Given the description of an element on the screen output the (x, y) to click on. 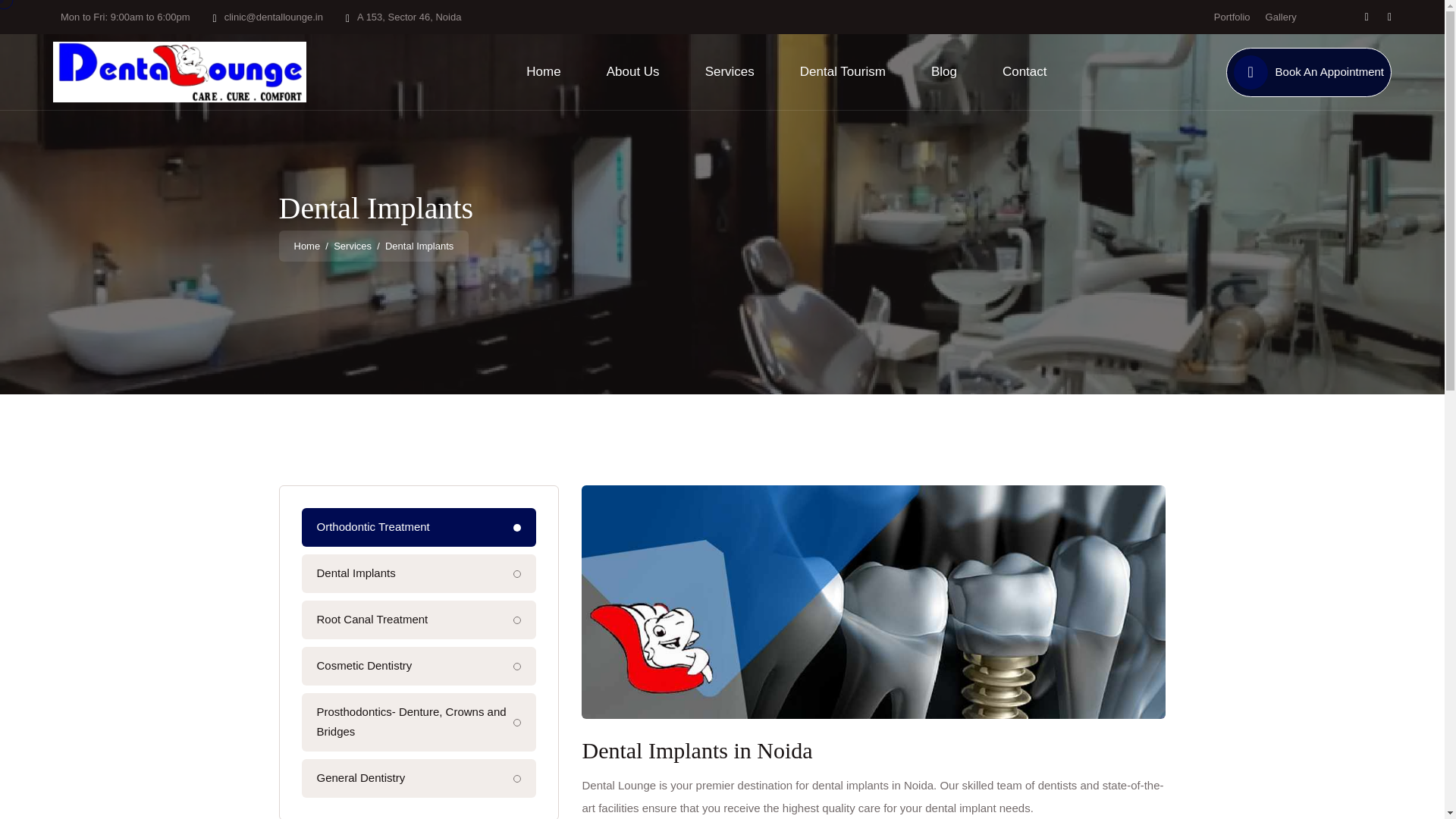
Cosmetic Dentistry (419, 666)
Book An Appointment (1329, 71)
Portfolio (1232, 16)
Gallery (1281, 16)
Home (542, 71)
Root Canal Treatment (419, 619)
Services (352, 246)
Dental Tourism (842, 71)
Orthodontic Treatment (419, 527)
Prosthodontics- Denture, Crowns and Bridges (419, 721)
Dental Implants (419, 573)
Home (307, 246)
Blog (943, 71)
About Us (633, 71)
General Dentistry (419, 778)
